Given the description of an element on the screen output the (x, y) to click on. 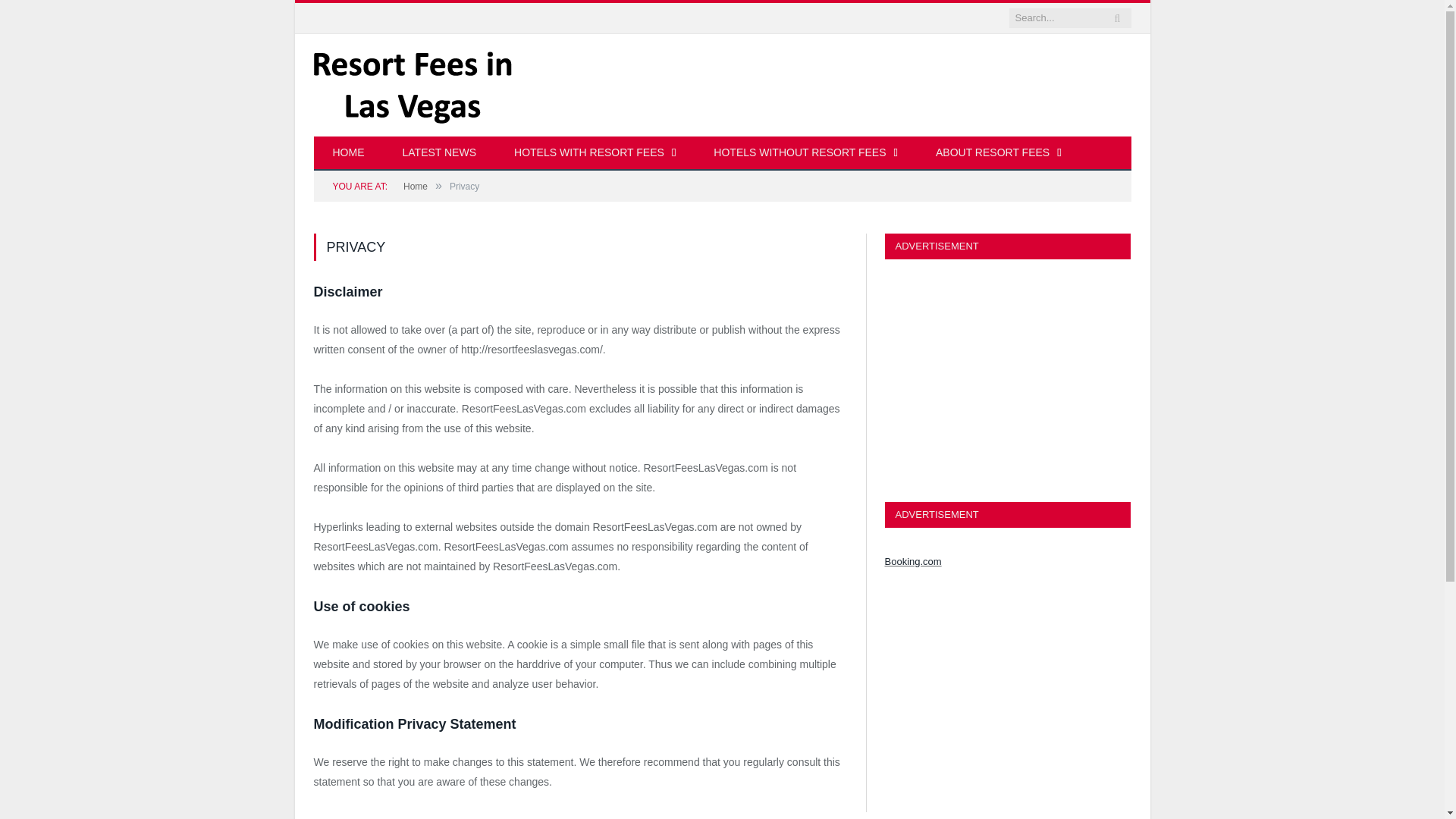
LATEST NEWS (440, 153)
Resortfeeslasvegas.com (413, 84)
HOTELS WITH RESORT FEES (594, 153)
HOME (349, 153)
